Given the description of an element on the screen output the (x, y) to click on. 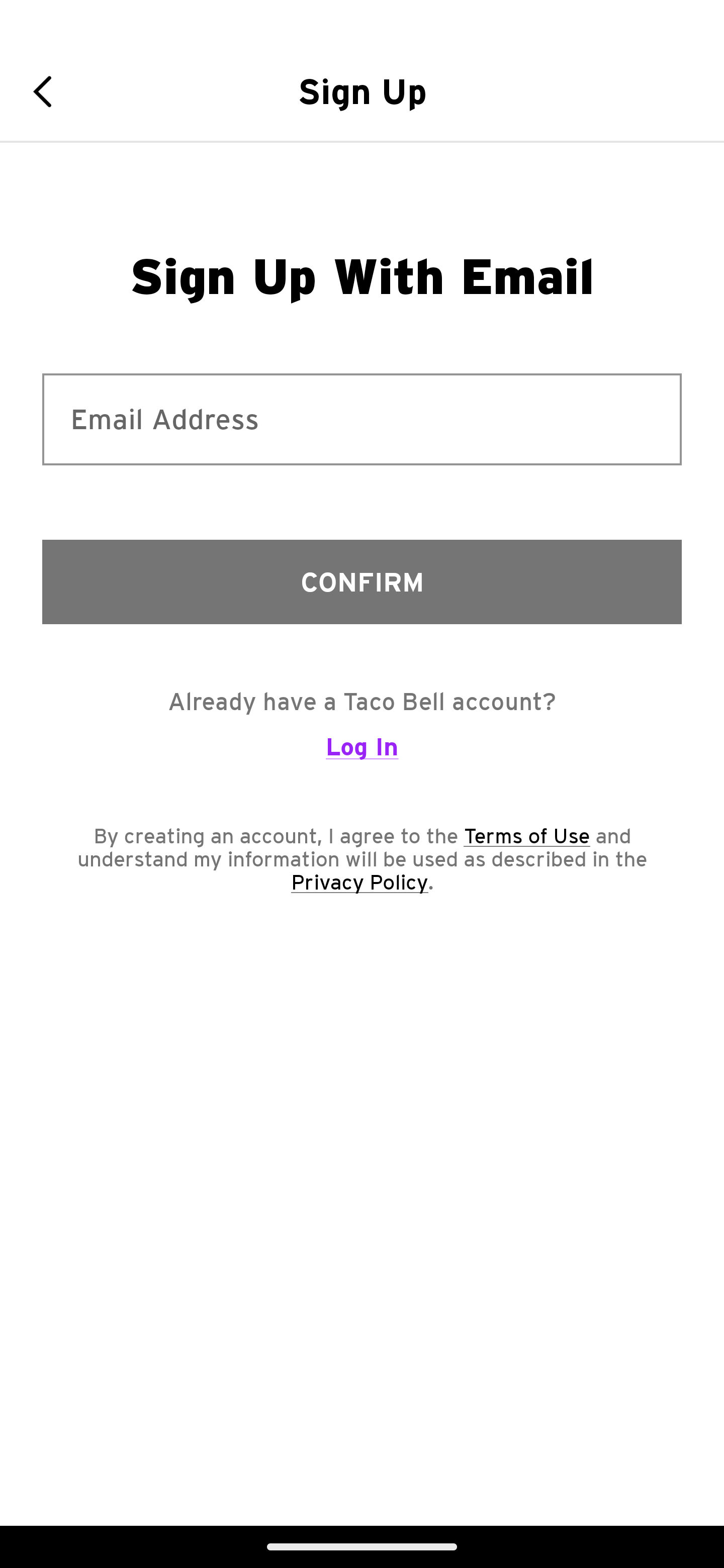
Navigate up (49, 91)
Email Address (361, 419)
CONFIRM (361, 581)
Log In (361, 754)
